Given the description of an element on the screen output the (x, y) to click on. 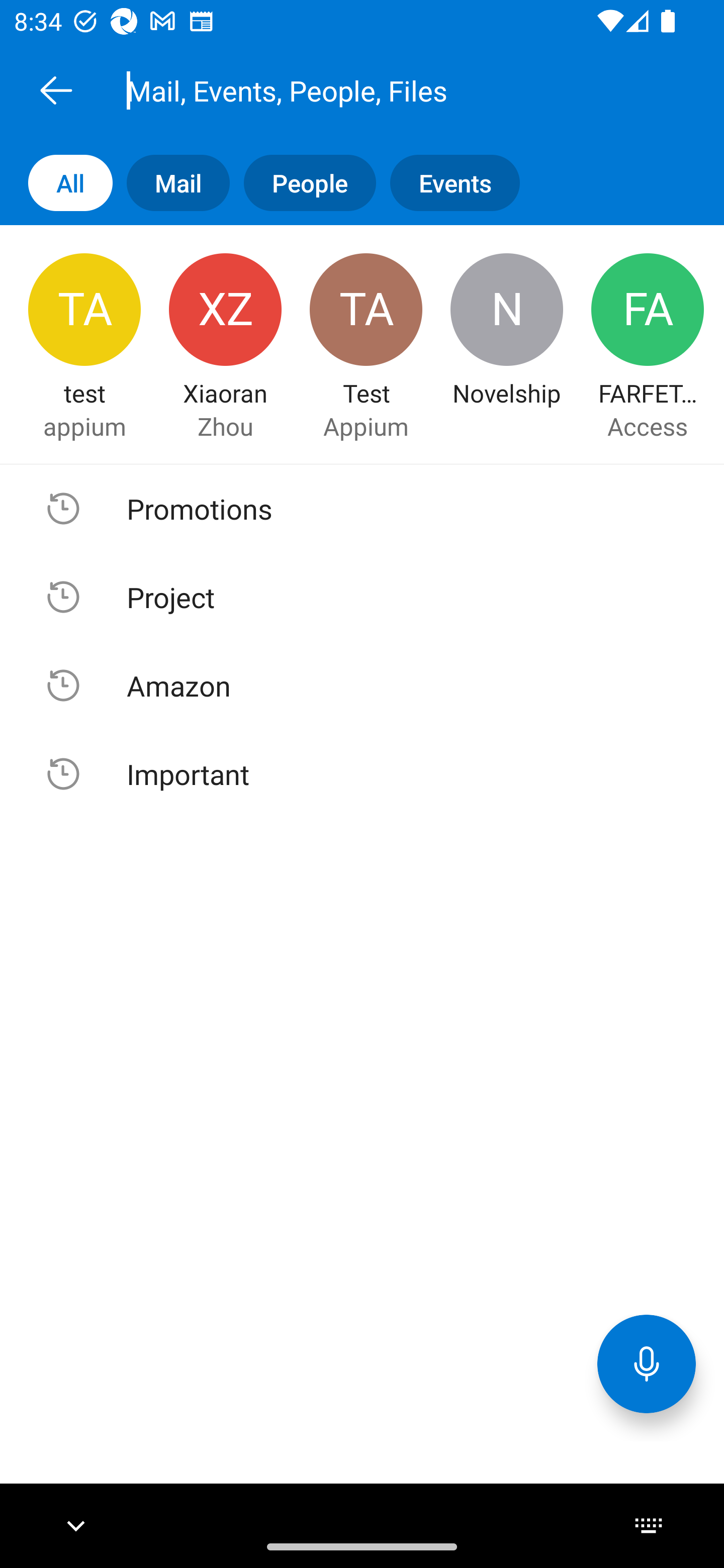
Back (55, 89)
Mail, Events, People, Files (384, 89)
Mail (170, 183)
People (302, 183)
Events (447, 183)
Suggested search , Text, Promotions Promotions (362, 508)
Suggested search , Text, Project Project (362, 597)
Suggested search , Text, Amazon Amazon (362, 685)
Suggested search , Text, Important Important (362, 773)
Voice Assistant (646, 1362)
